Given the description of an element on the screen output the (x, y) to click on. 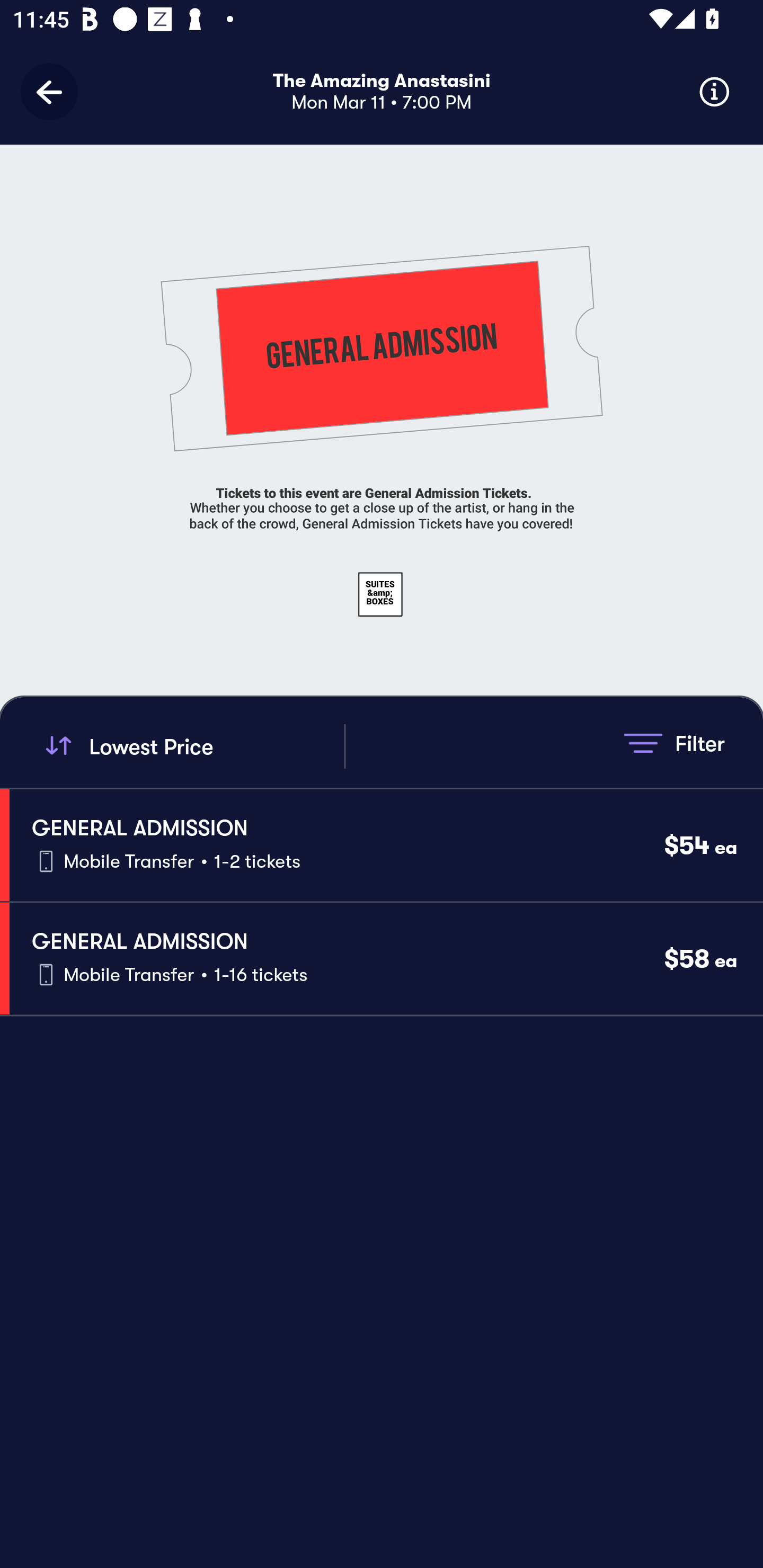
Lowest Price (191, 746)
Filter (674, 743)
